Given the description of an element on the screen output the (x, y) to click on. 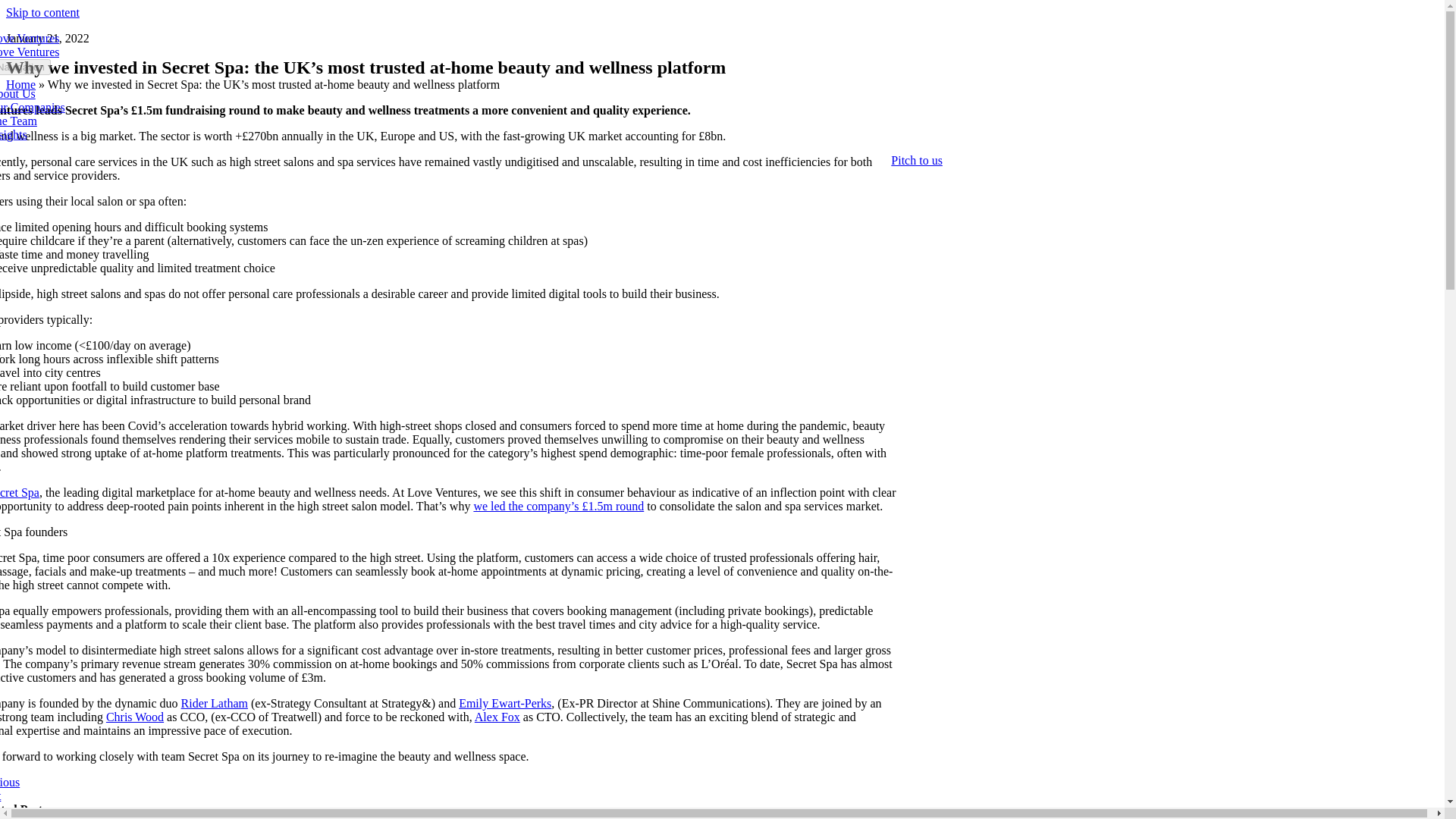
Home (19, 83)
About Us (17, 92)
The Team (18, 120)
Pitch to us (916, 160)
Skip to content (42, 11)
Toggle Navigation (25, 66)
Alex Fox (496, 716)
Previous (10, 781)
Insights (13, 133)
Our Companies (32, 106)
